Given the description of an element on the screen output the (x, y) to click on. 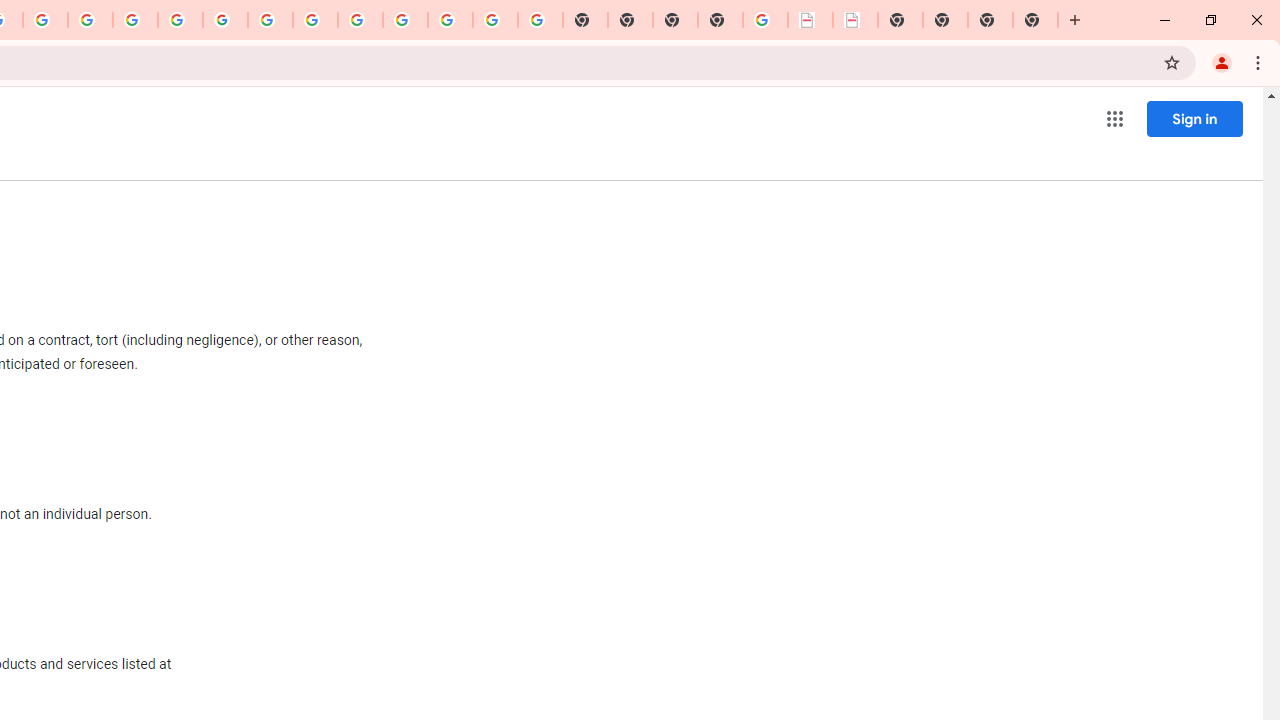
Google apps (1114, 118)
Minimize (1165, 20)
Browse Chrome as a guest - Computer - Google Chrome Help (315, 20)
Privacy Help Center - Policies Help (89, 20)
New Tab (1035, 20)
New Tab (720, 20)
New Tab (1075, 20)
